Given the description of an element on the screen output the (x, y) to click on. 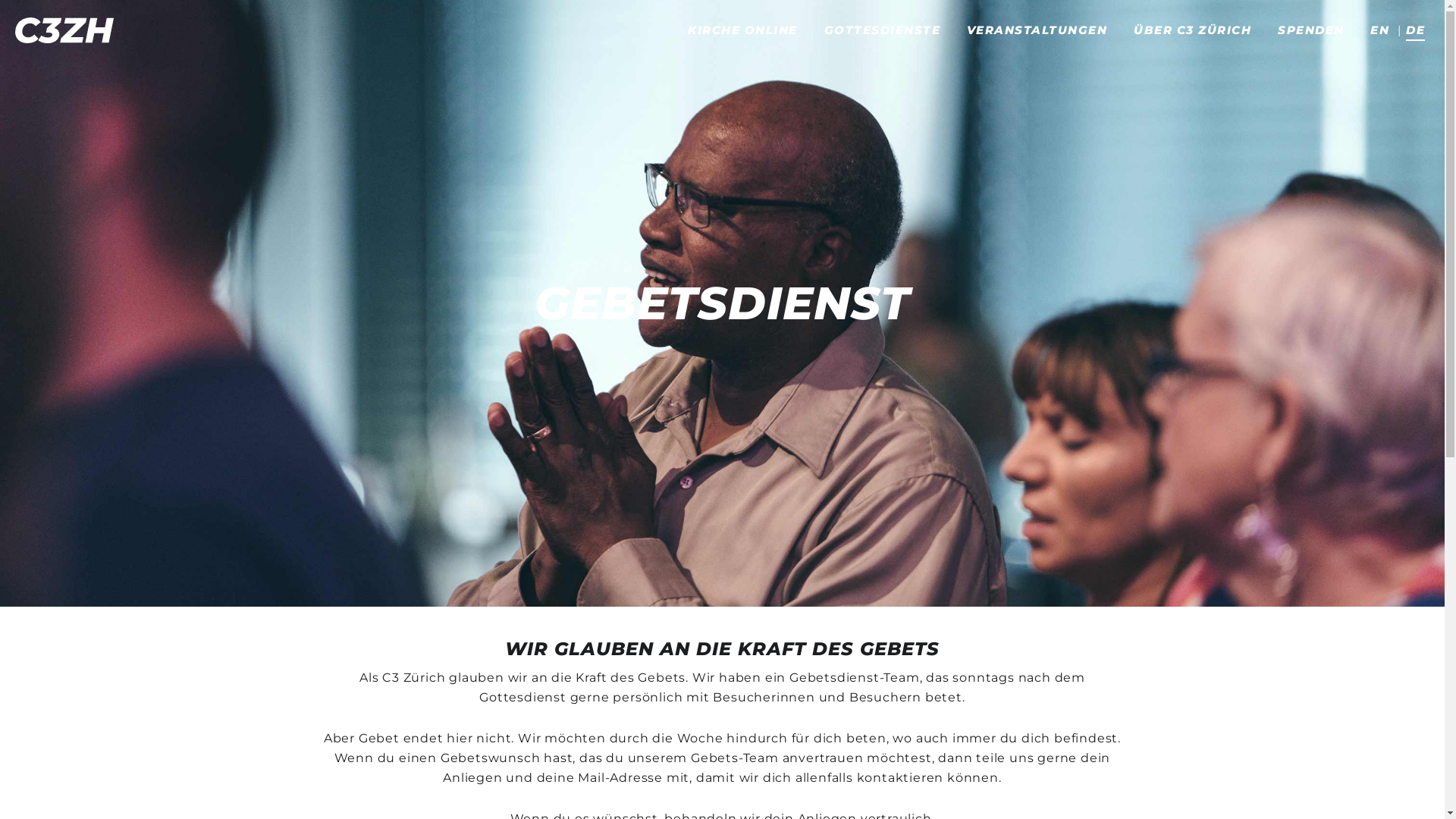
VERANSTALTUNGEN Element type: text (1037, 29)
SPENDEN Element type: text (1310, 29)
Skip to primary navigation Element type: text (0, 0)
KIRCHE ONLINE Element type: text (742, 29)
EN Element type: text (1375, 29)
DE Element type: text (1415, 30)
GOTTESDIENSTE Element type: text (882, 29)
